Given the description of an element on the screen output the (x, y) to click on. 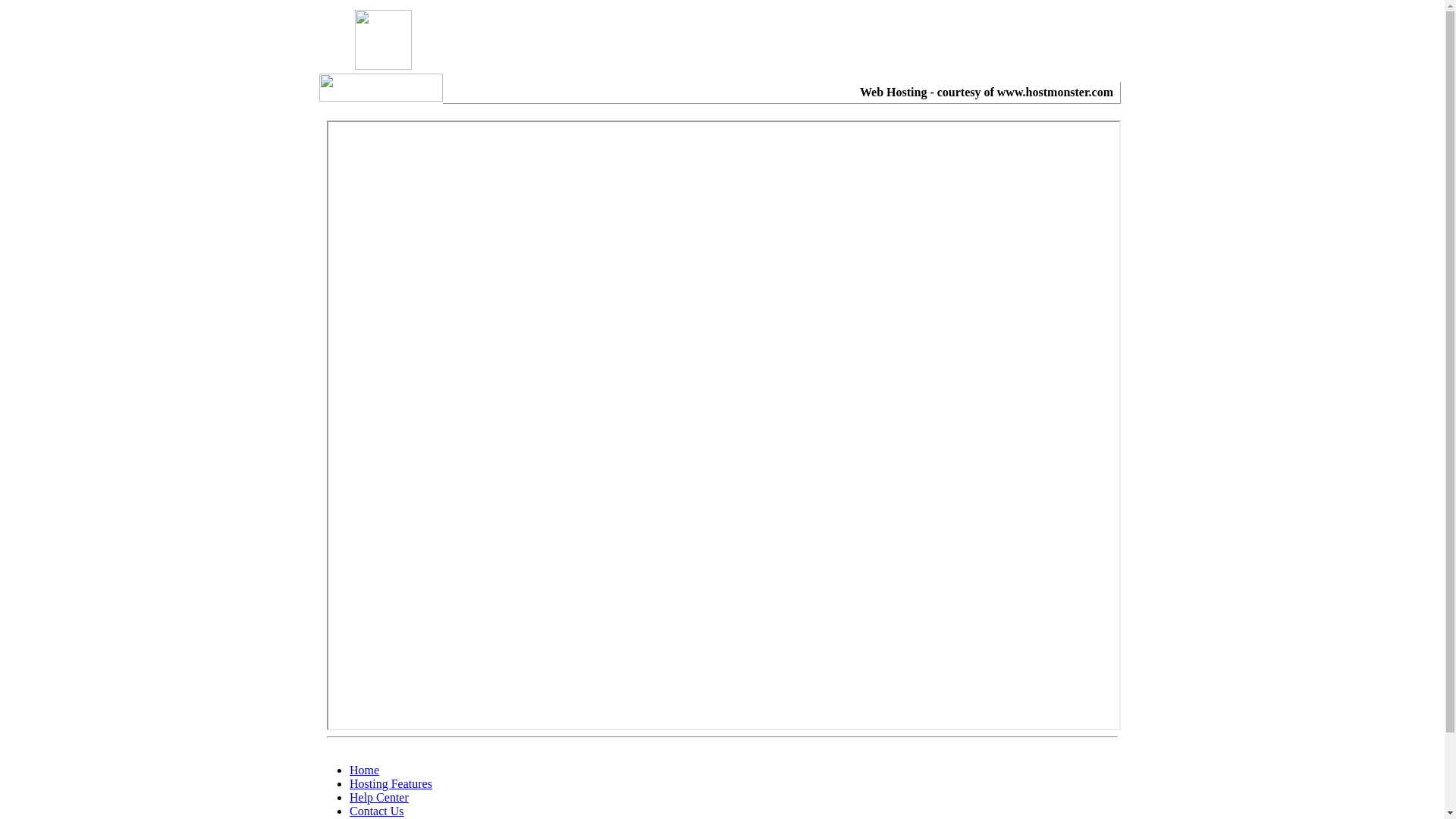
Hosting Features Element type: text (390, 783)
Web Hosting - courtesy of www.hostmonster.com Element type: text (986, 91)
Home Element type: text (364, 769)
Contact Us Element type: text (376, 810)
Help Center Element type: text (378, 796)
